Given the description of an element on the screen output the (x, y) to click on. 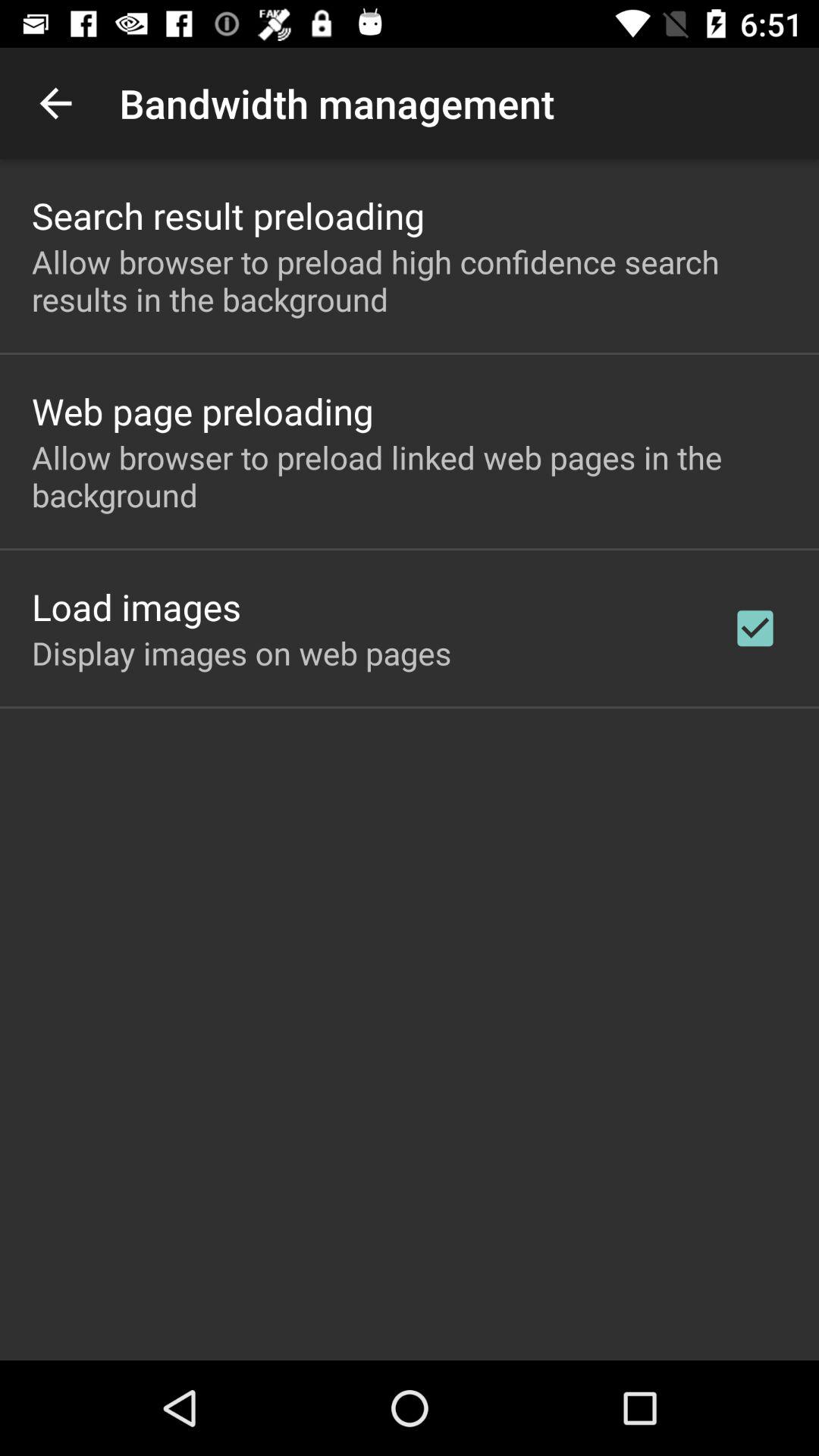
click the item next to display images on app (755, 628)
